Given the description of an element on the screen output the (x, y) to click on. 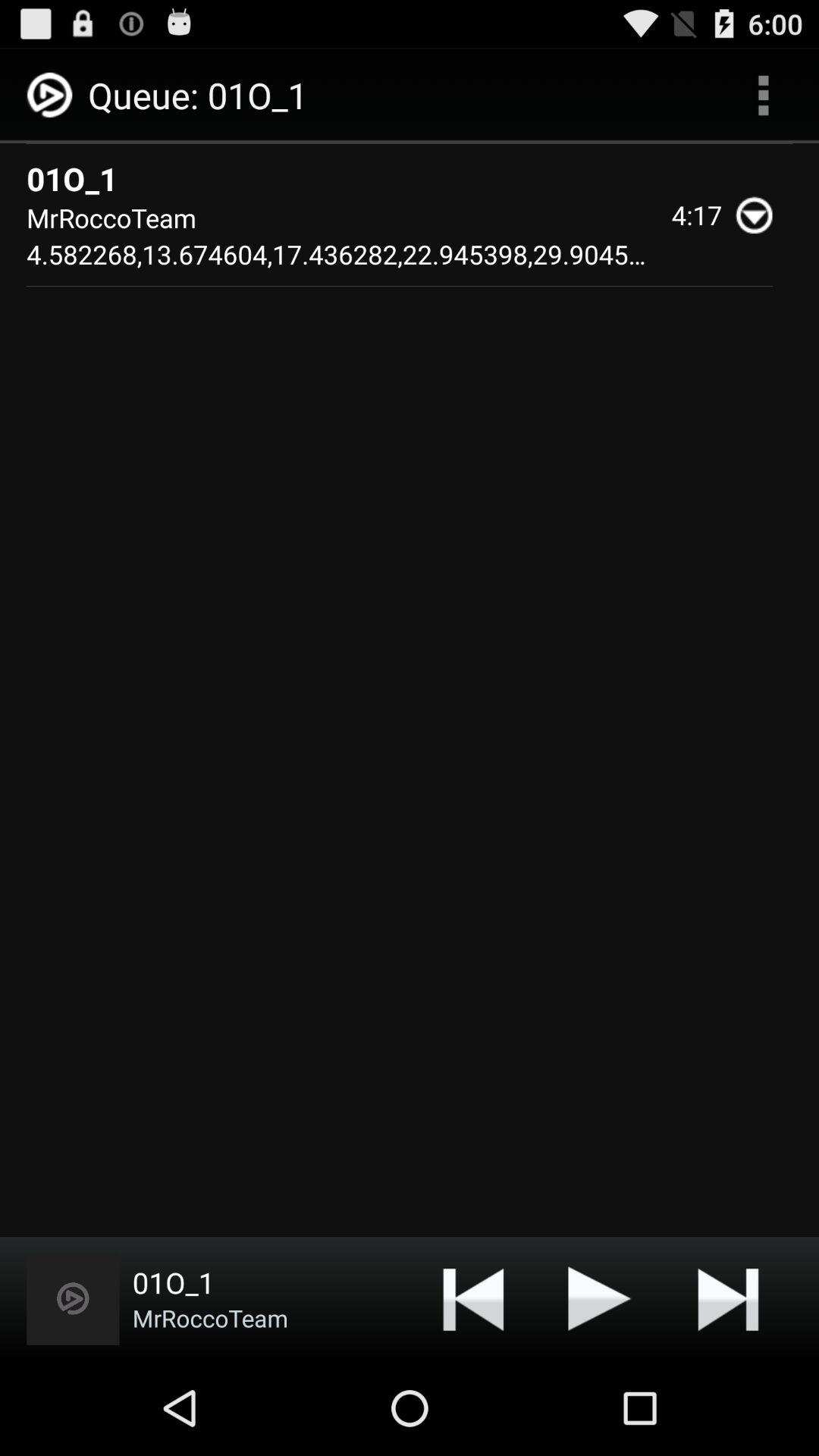
tap the item next to the 01o_1 app (72, 1298)
